Given the description of an element on the screen output the (x, y) to click on. 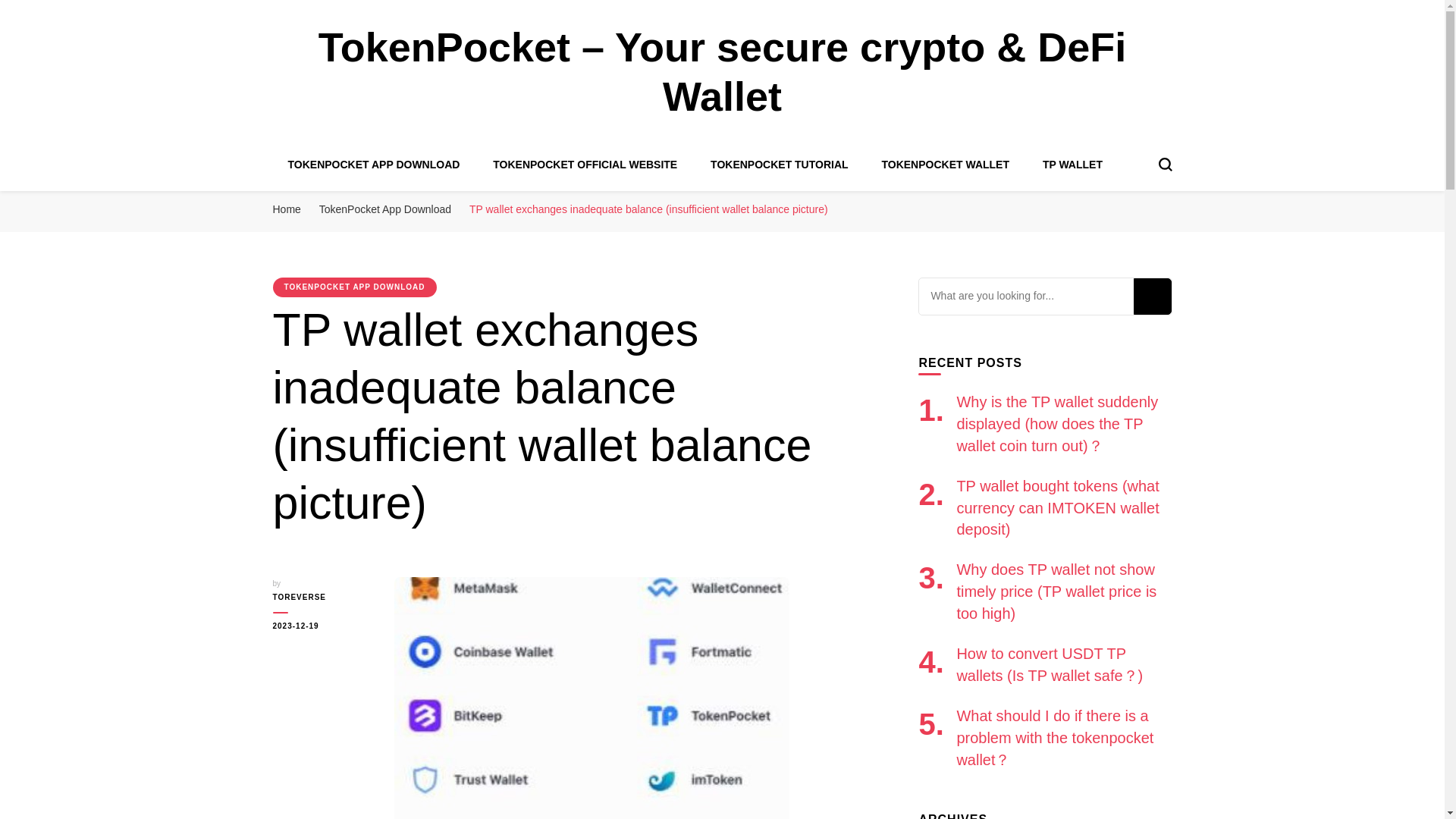
Search (1151, 296)
TOKENPOCKET TUTORIAL (779, 164)
TOREVERSE (322, 597)
TOKENPOCKET WALLET (944, 164)
TOKENPOCKET OFFICIAL WEBSITE (585, 164)
TOKENPOCKET APP DOWNLOAD (374, 164)
Home (287, 209)
TP WALLET (1072, 164)
Search (1151, 296)
2023-12-19 (322, 626)
TOKENPOCKET APP DOWNLOAD (354, 287)
TokenPocket App Download (384, 209)
Search (1151, 296)
